Given the description of an element on the screen output the (x, y) to click on. 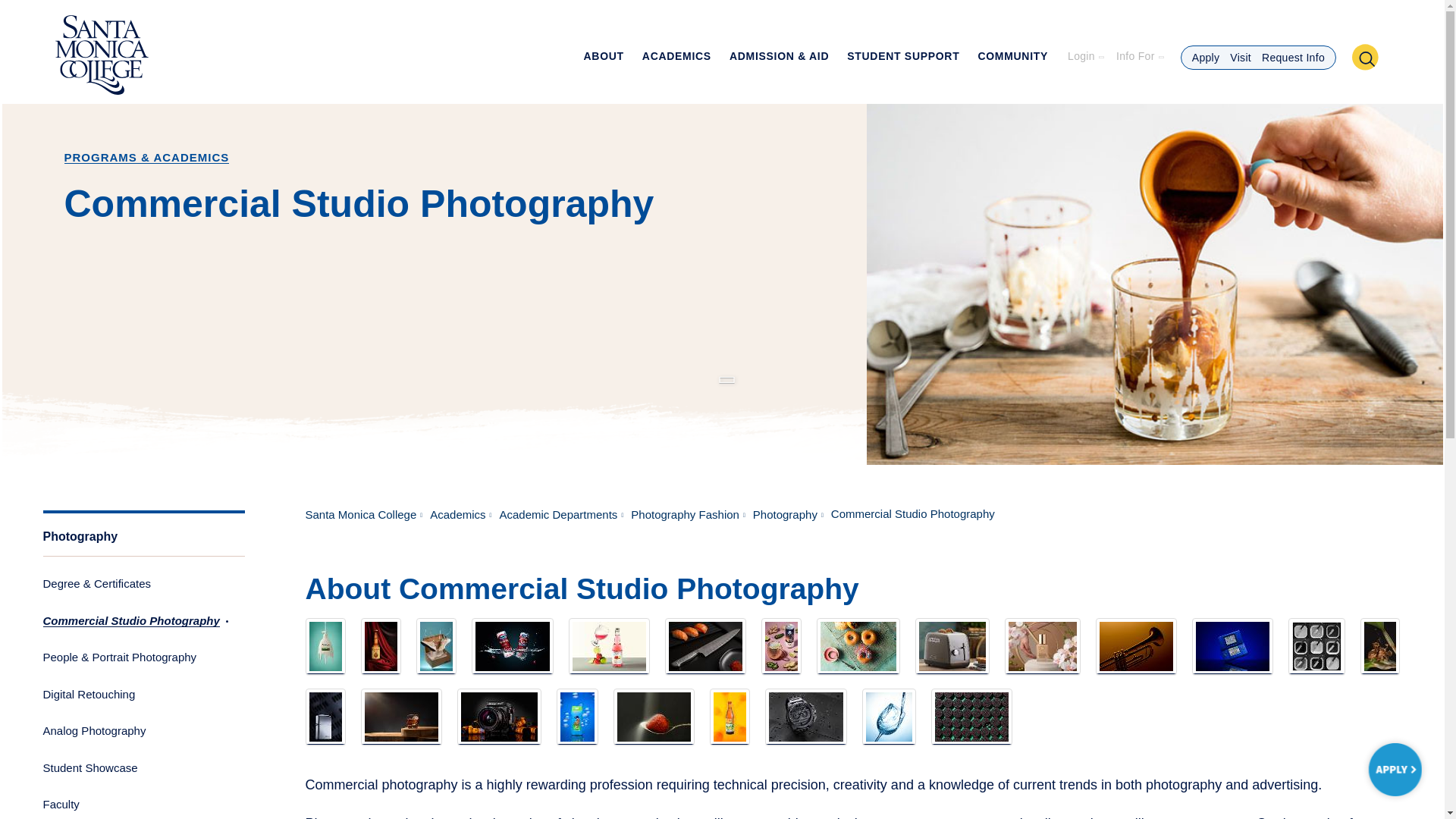
Commercial Studio Photography (1043, 645)
ACADEMICS (676, 65)
Commercial Studio Photography (499, 717)
Commercial Studio Photography (1231, 645)
Commercial Studio Photography (705, 645)
Commercial Studio Photography (951, 645)
Commercial Studio Photography (1316, 645)
ABOUT (603, 65)
Commercial Studio Photography (1136, 645)
Commercial Studio Photography (653, 717)
